Given the description of an element on the screen output the (x, y) to click on. 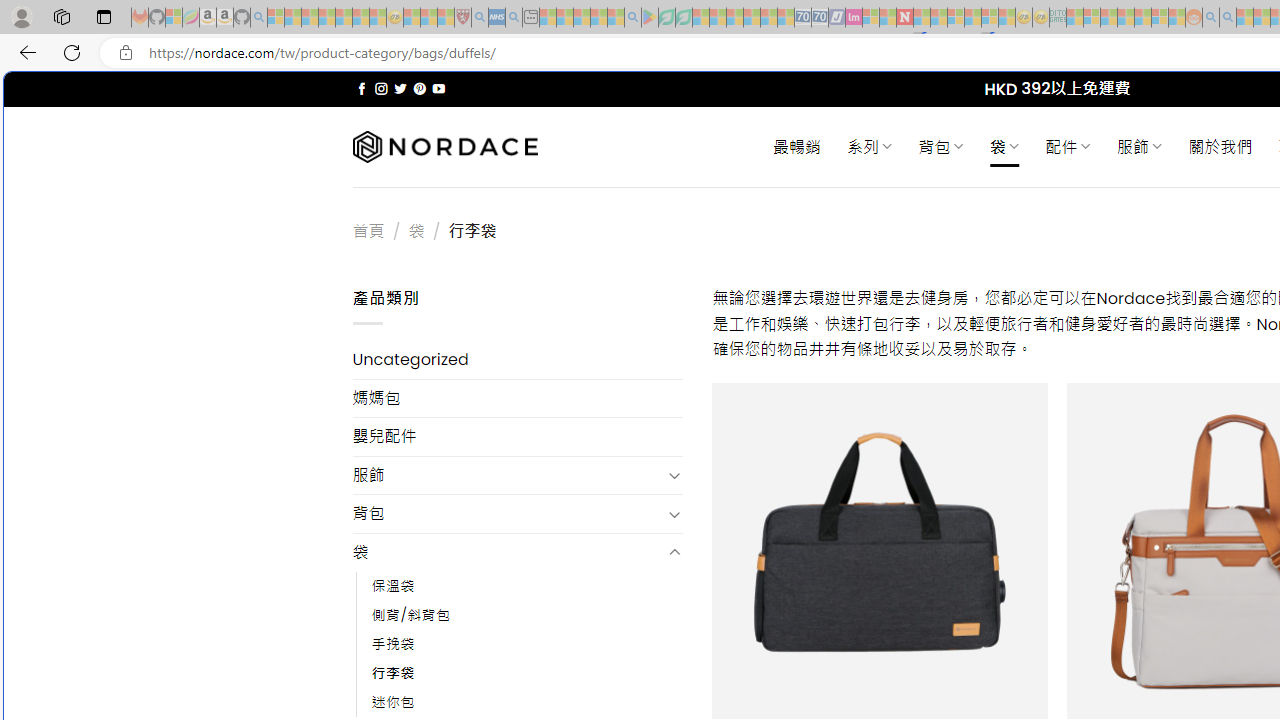
Latest Politics News & Archive | Newsweek.com - Sleeping (904, 17)
